Given the description of an element on the screen output the (x, y) to click on. 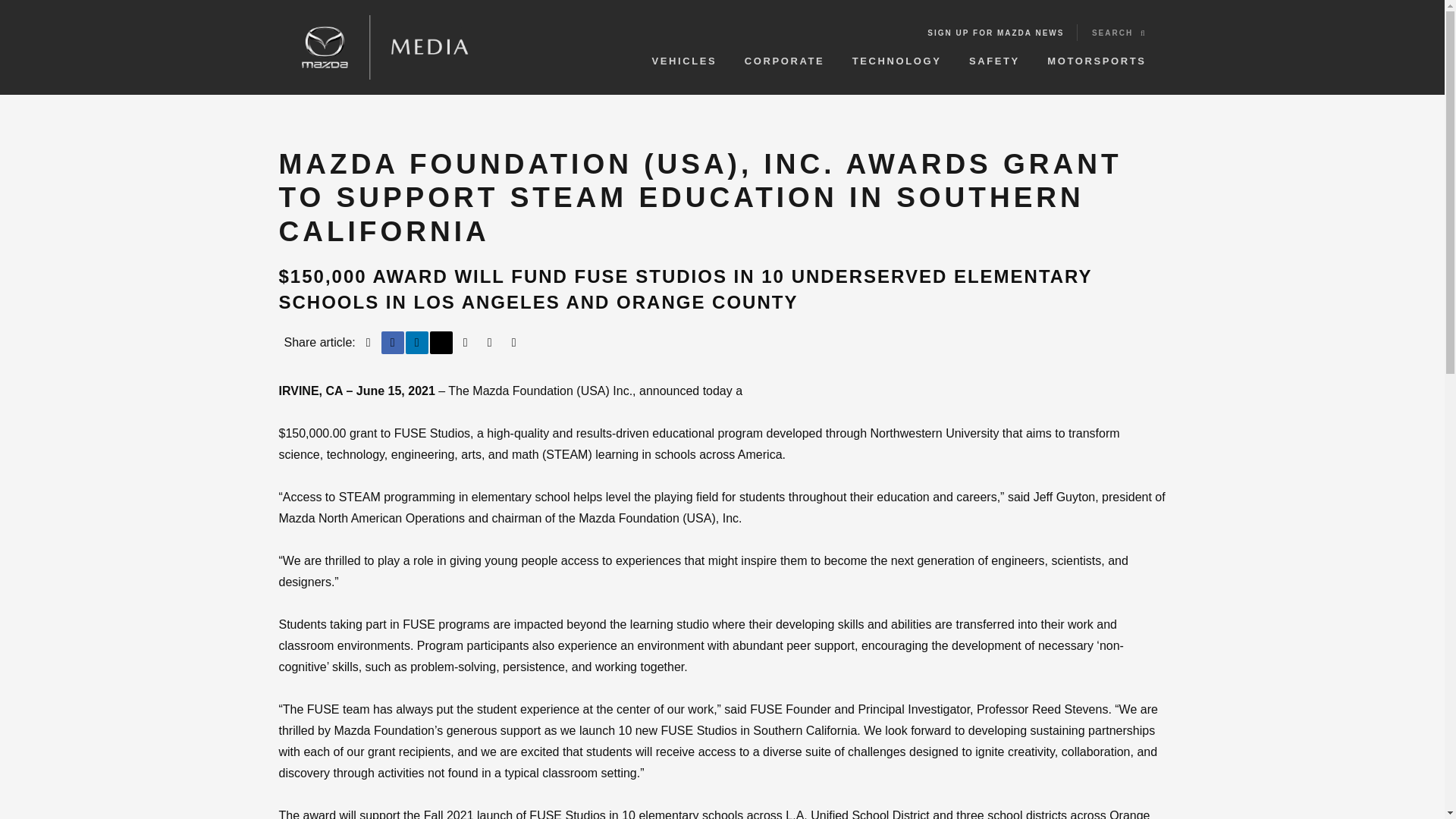
Motorsports (1095, 58)
Twitter Share (440, 342)
Corporate (784, 58)
SAFETY (994, 58)
SIGN UP FOR MAZDA NEWS (995, 33)
print (368, 342)
VEHICLES (684, 58)
email (465, 342)
TECHNOLOGY (896, 58)
Facebook Share (392, 342)
CORPORATE (784, 58)
Safety (994, 58)
MOTORSPORTS (1095, 58)
Vehicles (684, 58)
rss (489, 342)
